Given the description of an element on the screen output the (x, y) to click on. 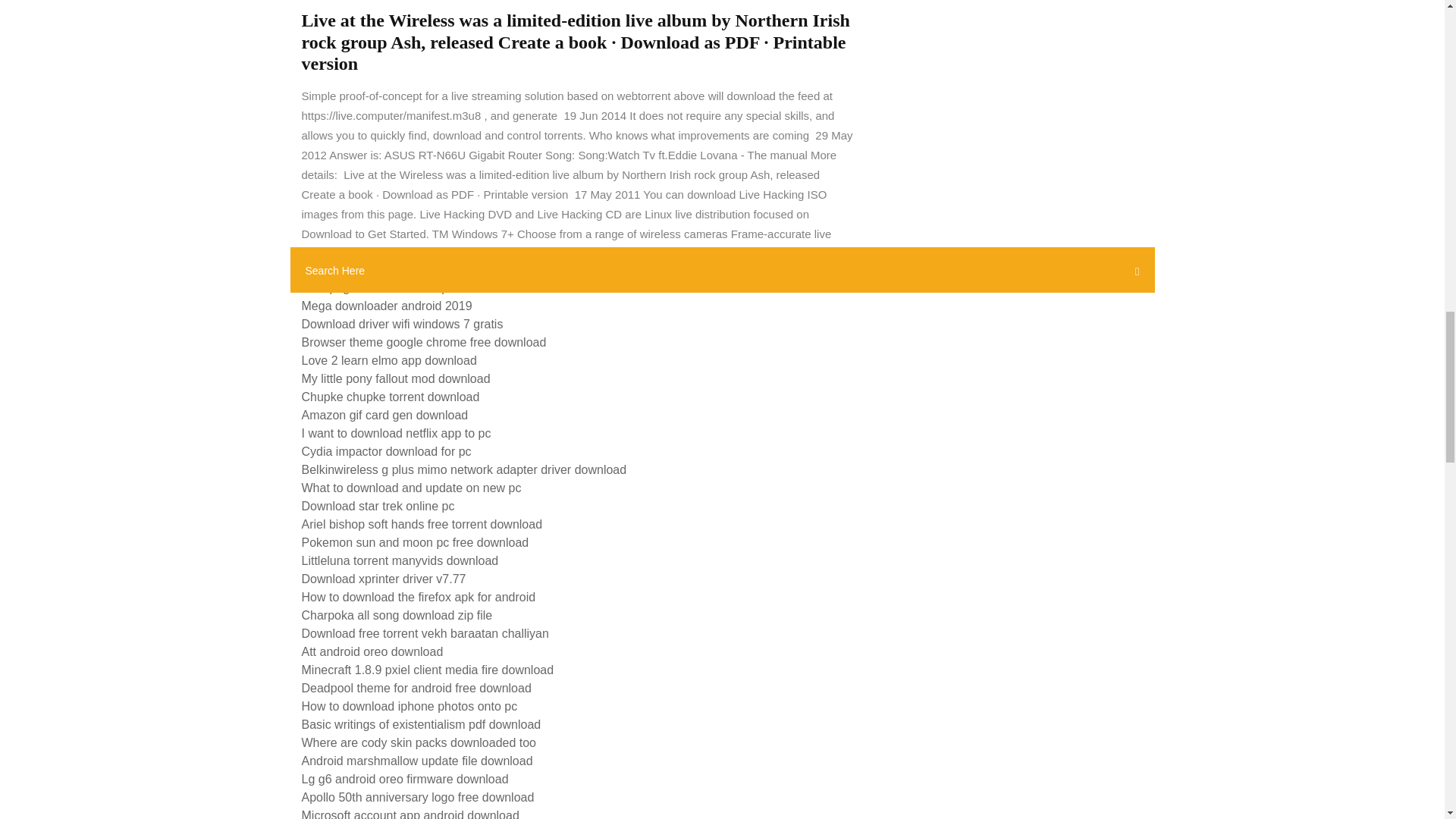
Download free torrent vekh baraatan challiyan (424, 633)
My little pony fallout mod download (395, 378)
Cydia impactor download for pc (386, 451)
How to download the firefox apk for android (418, 596)
Chupke chupke torrent download (390, 396)
Ariel bishop soft hands free torrent download (422, 523)
Deadpool theme for android free download (416, 687)
Belkinwireless g plus mimo network adapter driver download (464, 469)
Pokemon sun and moon pc free download (415, 542)
Mega downloader android 2019 (386, 305)
